Given the description of an element on the screen output the (x, y) to click on. 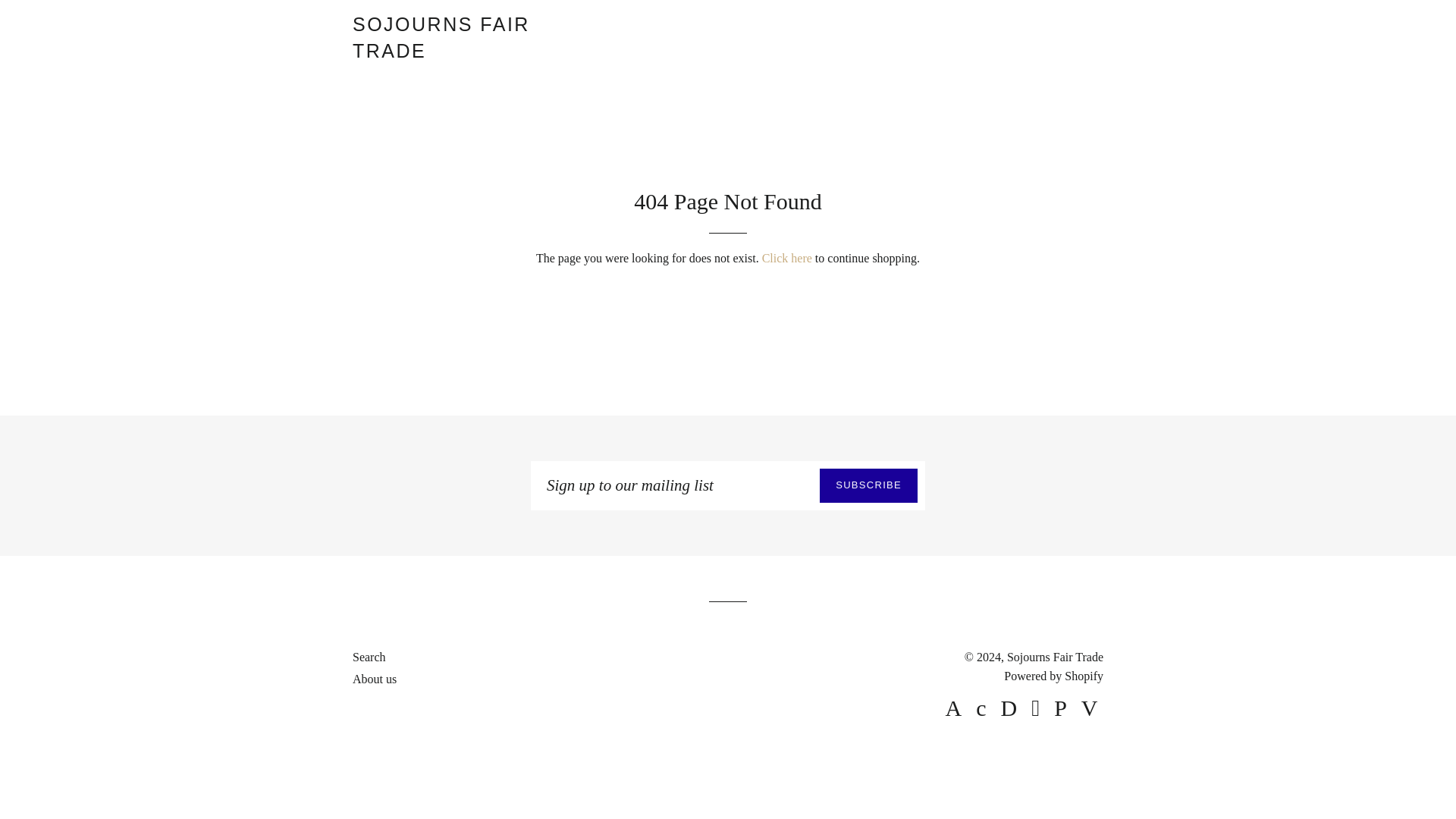
About us (374, 678)
Sojourns Fair Trade (1055, 656)
Click here (786, 257)
SUBSCRIBE (868, 485)
Search (368, 656)
SOJOURNS FAIR TRADE (477, 37)
Powered by Shopify (1053, 675)
